Given the description of an element on the screen output the (x, y) to click on. 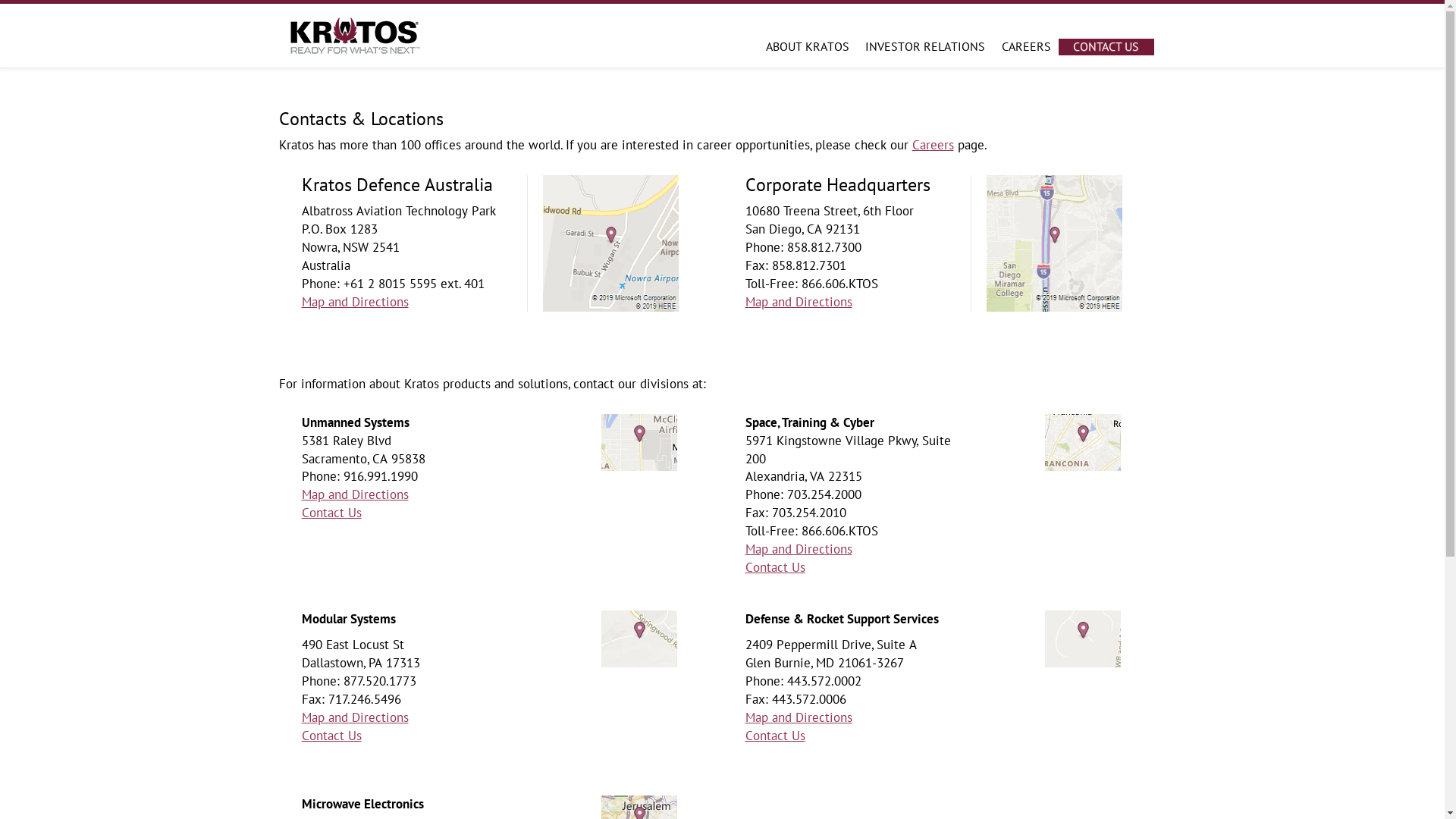
Contact Us Element type: text (774, 566)
CONTACT US Element type: text (1105, 46)
INVESTOR RELATIONS Element type: text (925, 45)
Contact Us Element type: text (331, 512)
Map and Directions Element type: text (797, 301)
Map and Directions Element type: text (354, 717)
Kratos Defense Australia Element type: hover (594, 241)
ABOUT KRATOS Element type: text (807, 45)
Kratos Corporate Headquarters Element type: hover (1038, 241)
Map and Directions Element type: text (354, 301)
CAREERS Element type: text (1025, 45)
Map and Directions Element type: text (797, 548)
Contact Us Element type: text (331, 735)
Careers Element type: text (932, 144)
Map and Directions Element type: text (797, 717)
Map and Directions Element type: text (354, 494)
Contact Us Element type: text (774, 735)
